Given the description of an element on the screen output the (x, y) to click on. 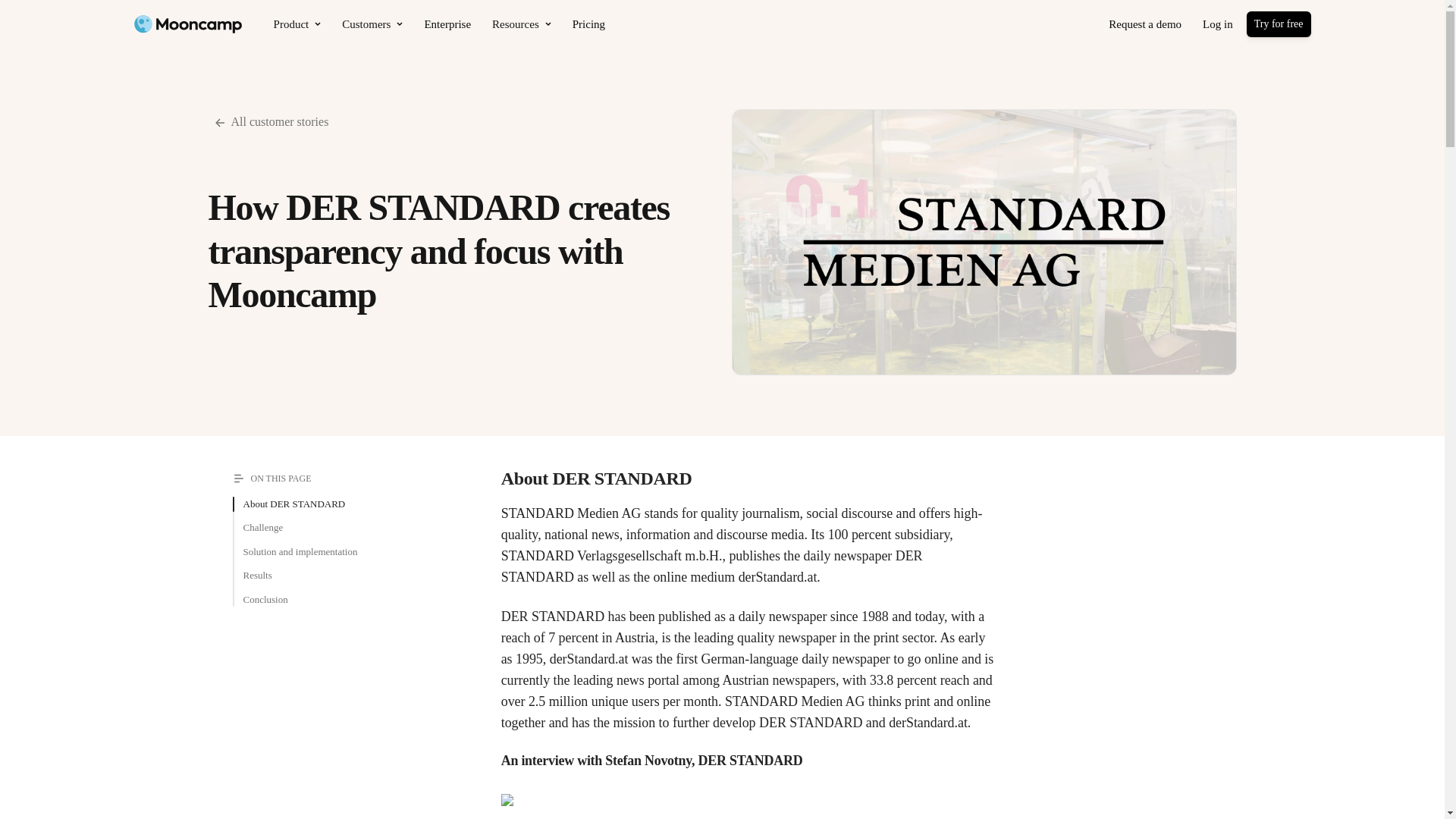
Results (256, 574)
Product (297, 24)
Pricing (588, 24)
Conclusion (264, 599)
Try for free (1278, 24)
Mooncamp (187, 23)
Request a demo (1144, 24)
Log in (1217, 24)
Enterprise (447, 24)
Resources (521, 24)
